Given the description of an element on the screen output the (x, y) to click on. 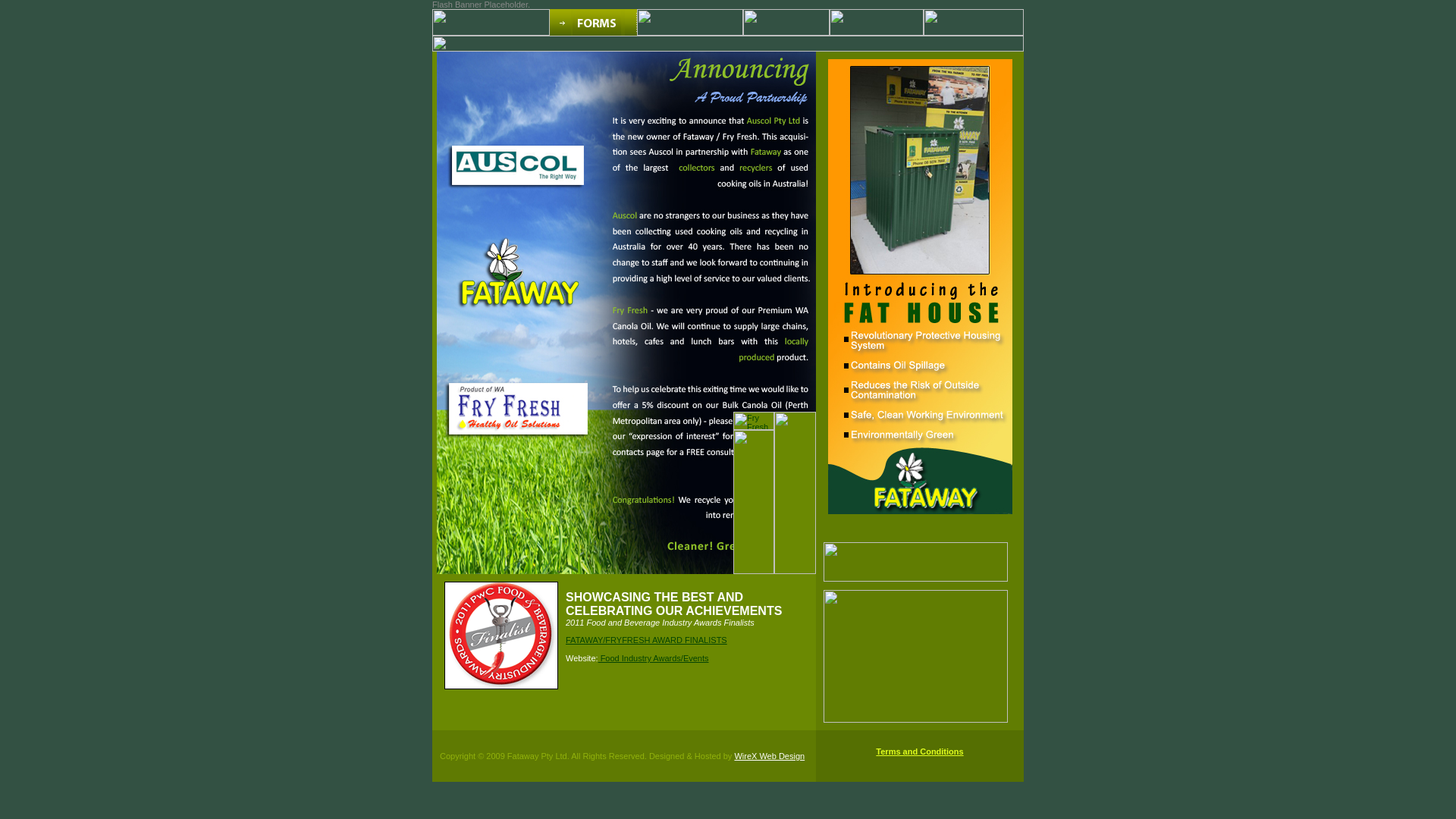
Food Industry Awards/Events Element type: text (653, 657)
Terms and Conditions Element type: text (919, 755)
WireX Web Design Element type: text (769, 755)
FATAWAY/FRYFRESH AWARD FINALISTS Element type: text (646, 639)
